Given the description of an element on the screen output the (x, y) to click on. 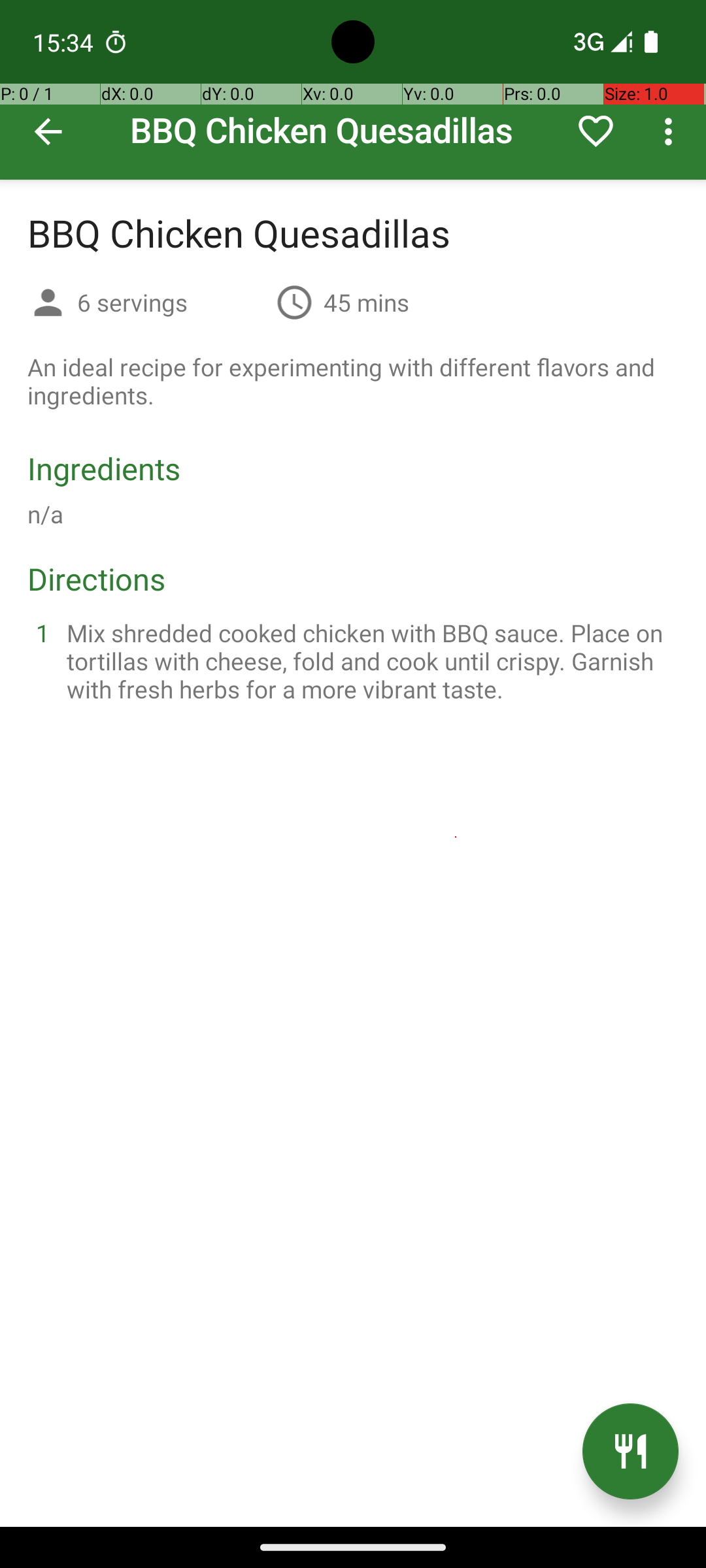
Mix shredded cooked chicken with BBQ sauce. Place on tortillas with cheese, fold and cook until crispy. Garnish with fresh herbs for a more vibrant taste. Element type: android.widget.TextView (368, 660)
